Given the description of an element on the screen output the (x, y) to click on. 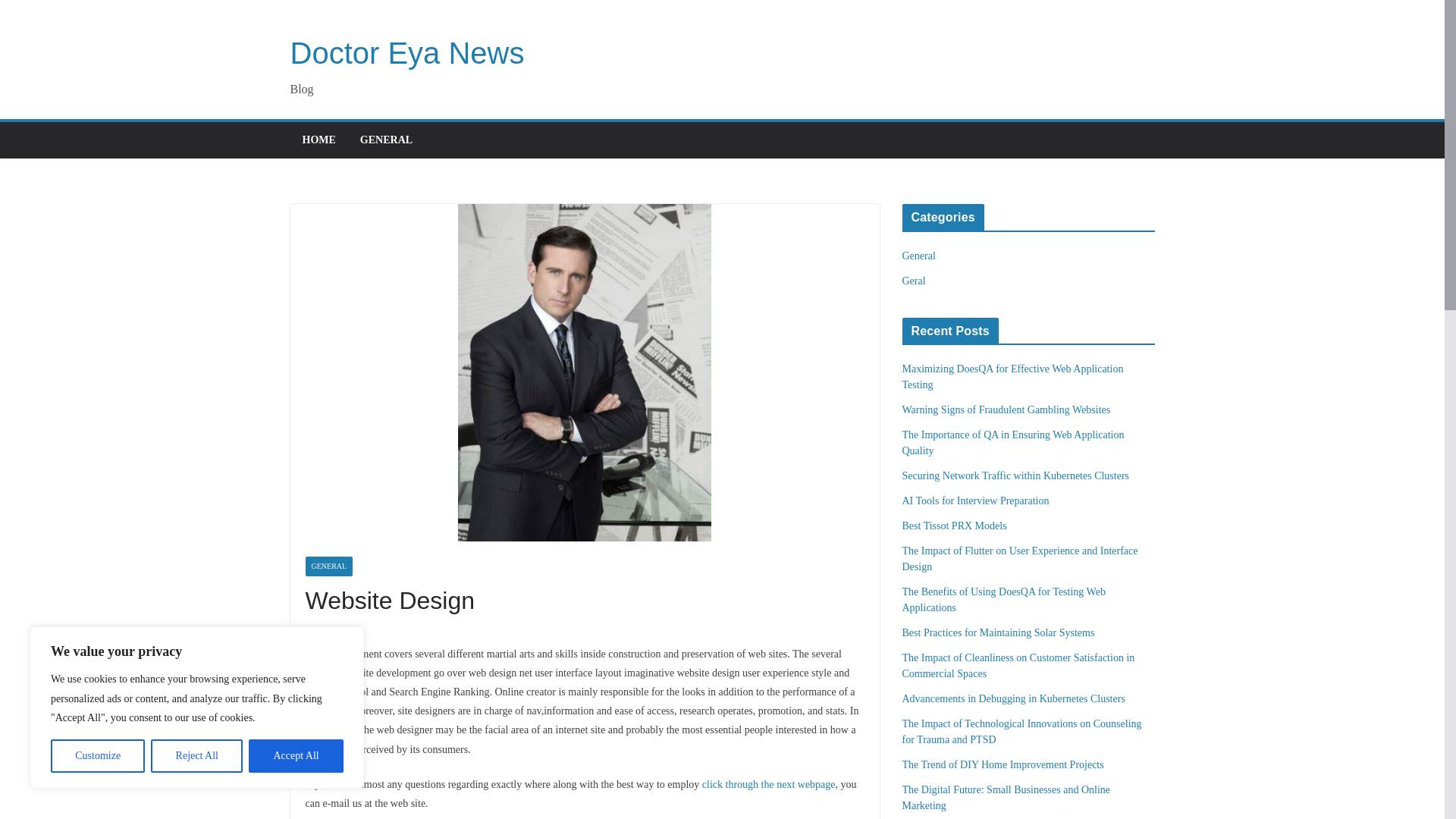
Doctor Eya News (406, 52)
Customize (97, 756)
click through the next webpage (768, 784)
Geral (914, 280)
Maximizing DoesQA for Effective Web Application Testing (1013, 376)
GENERAL (385, 139)
Best Tissot PRX Models (954, 525)
Securing Network Traffic within Kubernetes Clusters (1015, 475)
AI Tools for Interview Preparation (975, 500)
HOME (317, 139)
General (919, 255)
GENERAL (328, 566)
Reject All (197, 756)
Warning Signs of Fraudulent Gambling Websites (1006, 409)
Doctor Eya News (406, 52)
